Given the description of an element on the screen output the (x, y) to click on. 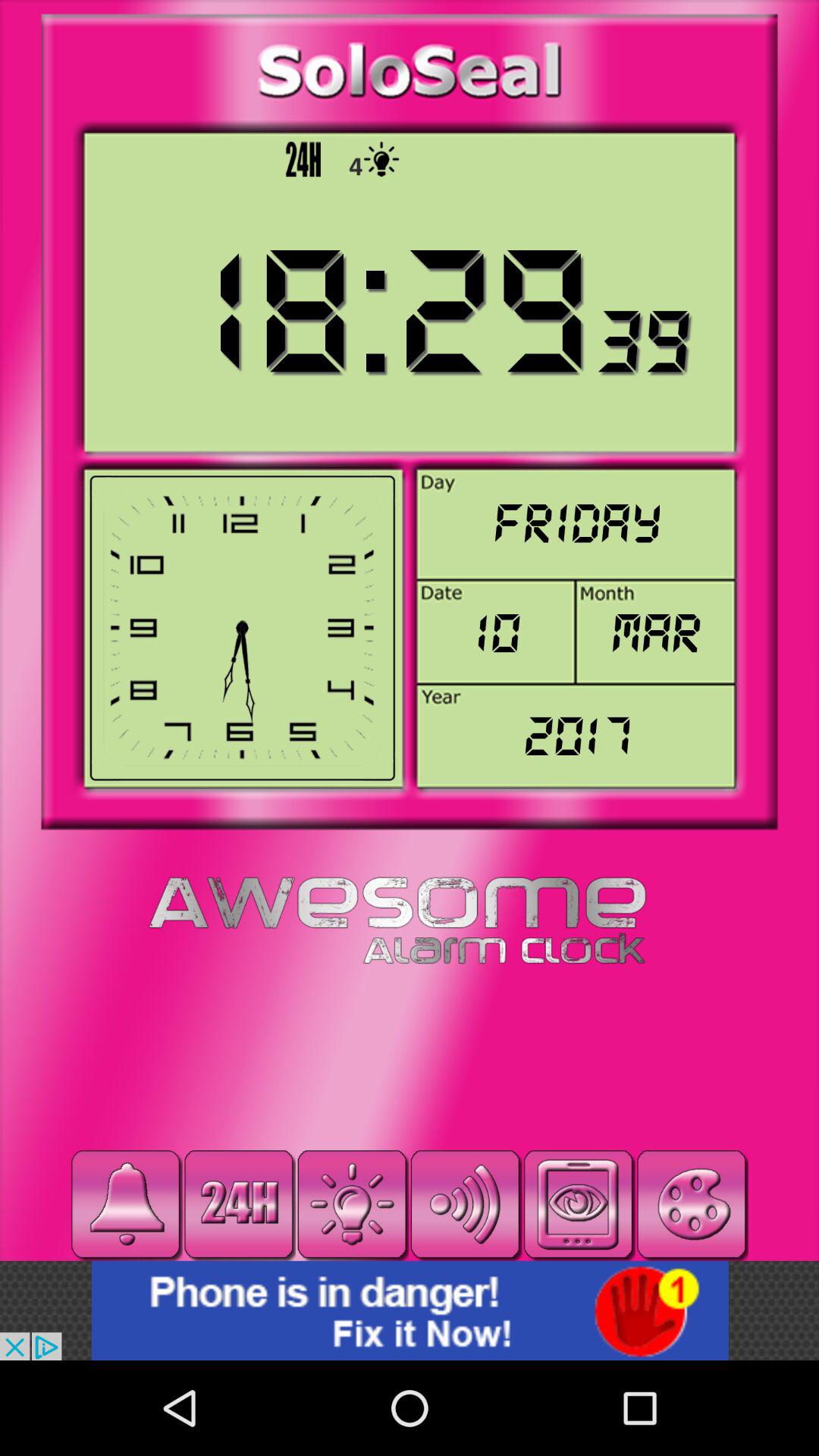
change color (691, 1203)
